Given the description of an element on the screen output the (x, y) to click on. 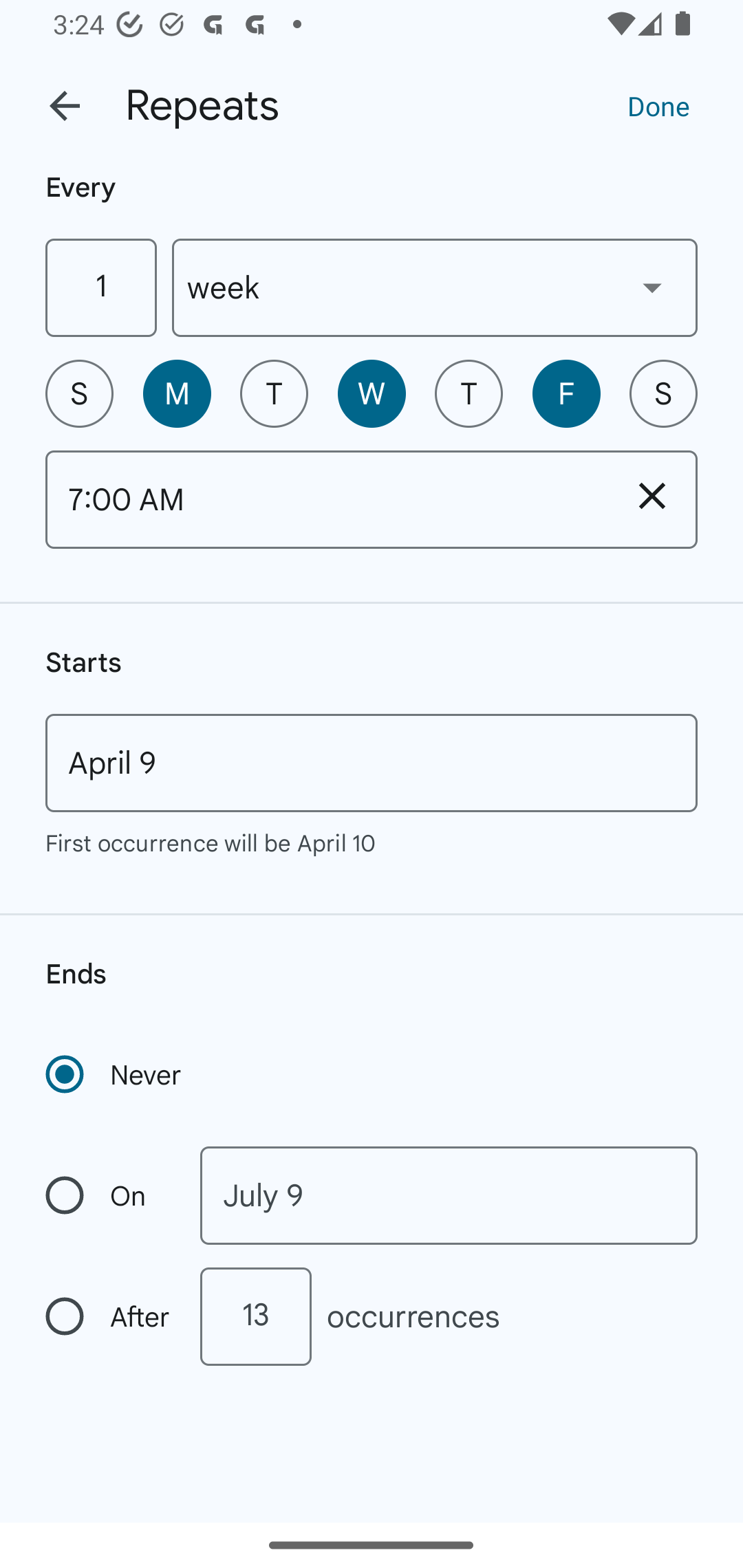
Back (64, 105)
Done (658, 105)
1 (100, 287)
week (434, 287)
Show dropdown menu (652, 286)
S Sunday (79, 393)
M Monday, selected (177, 393)
T Tuesday (273, 393)
W Wednesday, selected (371, 393)
T Thursday (468, 393)
F Friday, selected (566, 393)
S Saturday (663, 393)
7:00 AM (326, 499)
Remove 7:00 AM (652, 495)
April 9 (371, 762)
Never Recurrence never ends (115, 1074)
July 9 (448, 1195)
On Recurrence ends on a specific date (109, 1195)
13 (255, 1315)
